Given the description of an element on the screen output the (x, y) to click on. 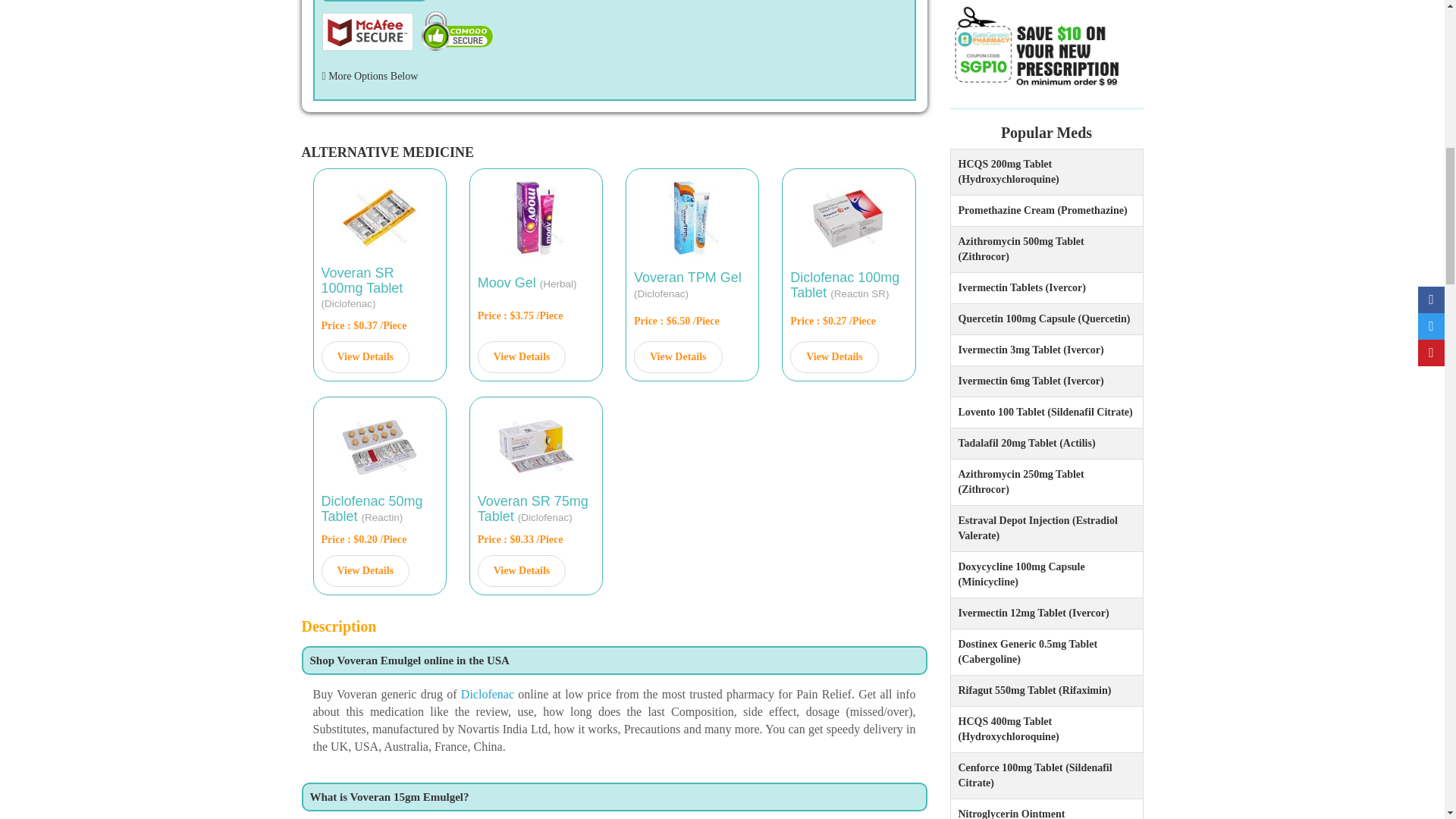
Voveran SR 75mg Tablet (535, 445)
Voveran SR 100mg Tablet (379, 217)
Reactin SR-100 (848, 217)
Moov Gel (535, 217)
Voveran Tpm Gel (691, 217)
